Given the description of an element on the screen output the (x, y) to click on. 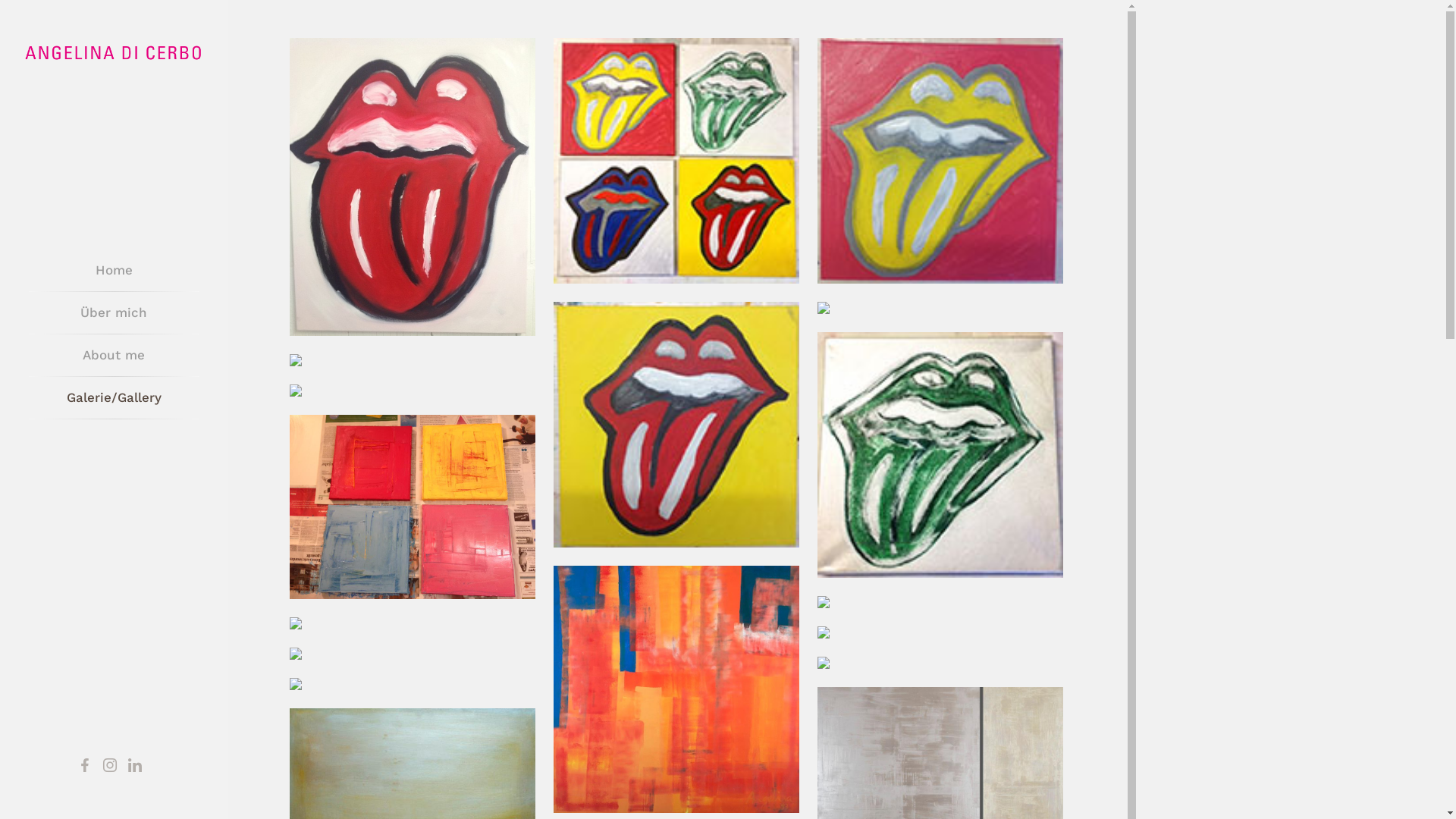
Flower Power Element type: hover (412, 506)
I'm a Rolling Stoner Element type: hover (412, 186)
Goldrausch Element type: hover (412, 653)
Victory Element type: hover (412, 623)
Traffic Element type: hover (412, 390)
Galerie/Gallery Element type: text (113, 397)
Keith Element type: hover (940, 160)
Foxy Brown Element type: hover (940, 662)
About me Element type: text (113, 355)
Home Element type: text (113, 270)
Das Unendliche Element type: hover (676, 688)
Traffic Element type: hover (412, 360)
Plain Vanilla Element type: hover (412, 683)
Charlie Element type: hover (940, 454)
Mick Element type: hover (676, 424)
Ron Element type: hover (940, 307)
Caviar & Chewing Gum Element type: hover (940, 602)
logo Element type: hover (113, 51)
Keith, Charlie, Ron & Mick Element type: hover (676, 160)
